Given the description of an element on the screen output the (x, y) to click on. 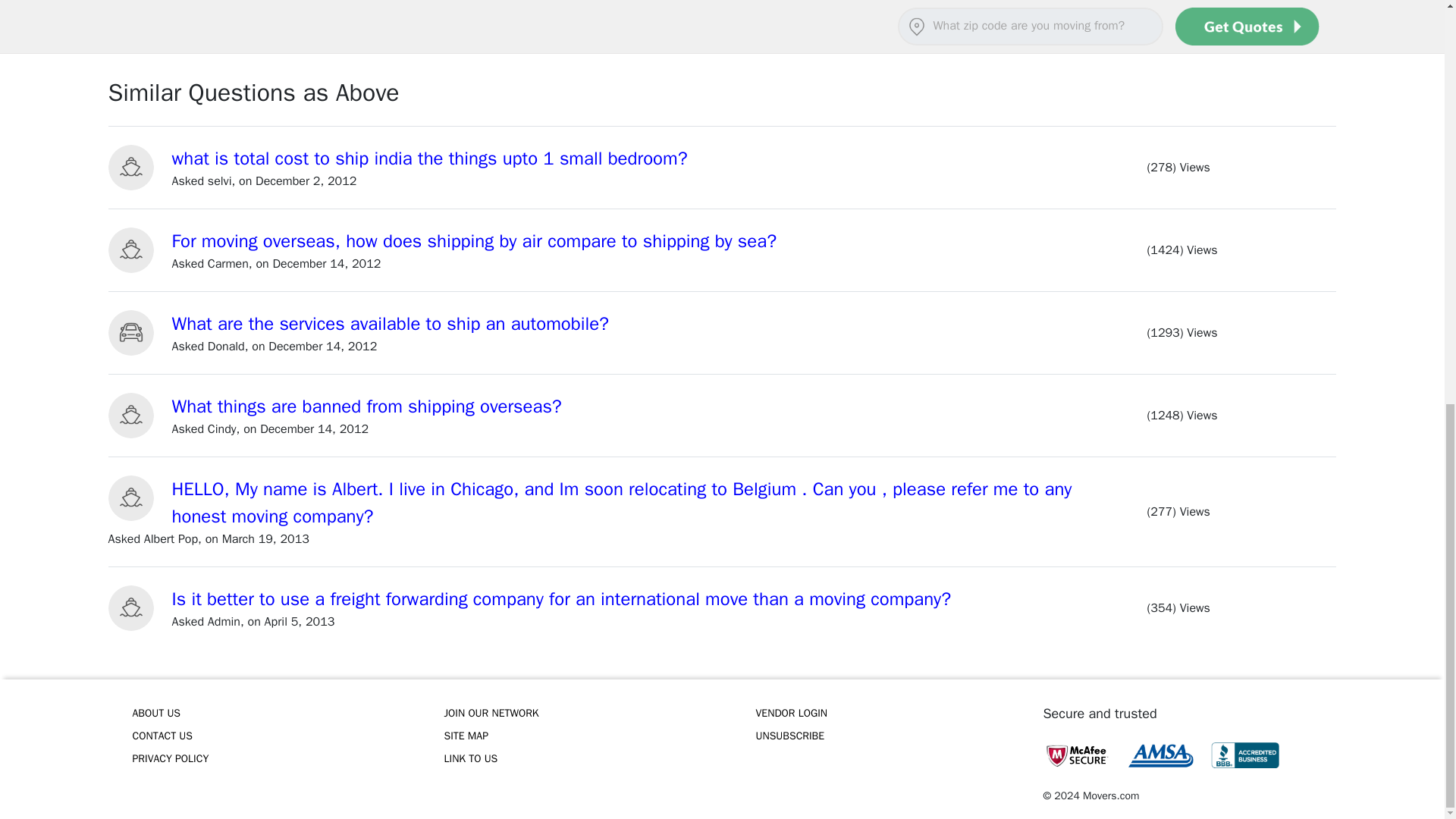
PRIVACY POLICY (266, 758)
UNSUBSCRIBE (890, 735)
1 (125, 18)
VENDOR LOGIN (890, 712)
JOIN OUR NETWORK (578, 712)
What are the services available to ship an automobile? (390, 323)
2 (157, 18)
ABOUT US (266, 712)
